Given the description of an element on the screen output the (x, y) to click on. 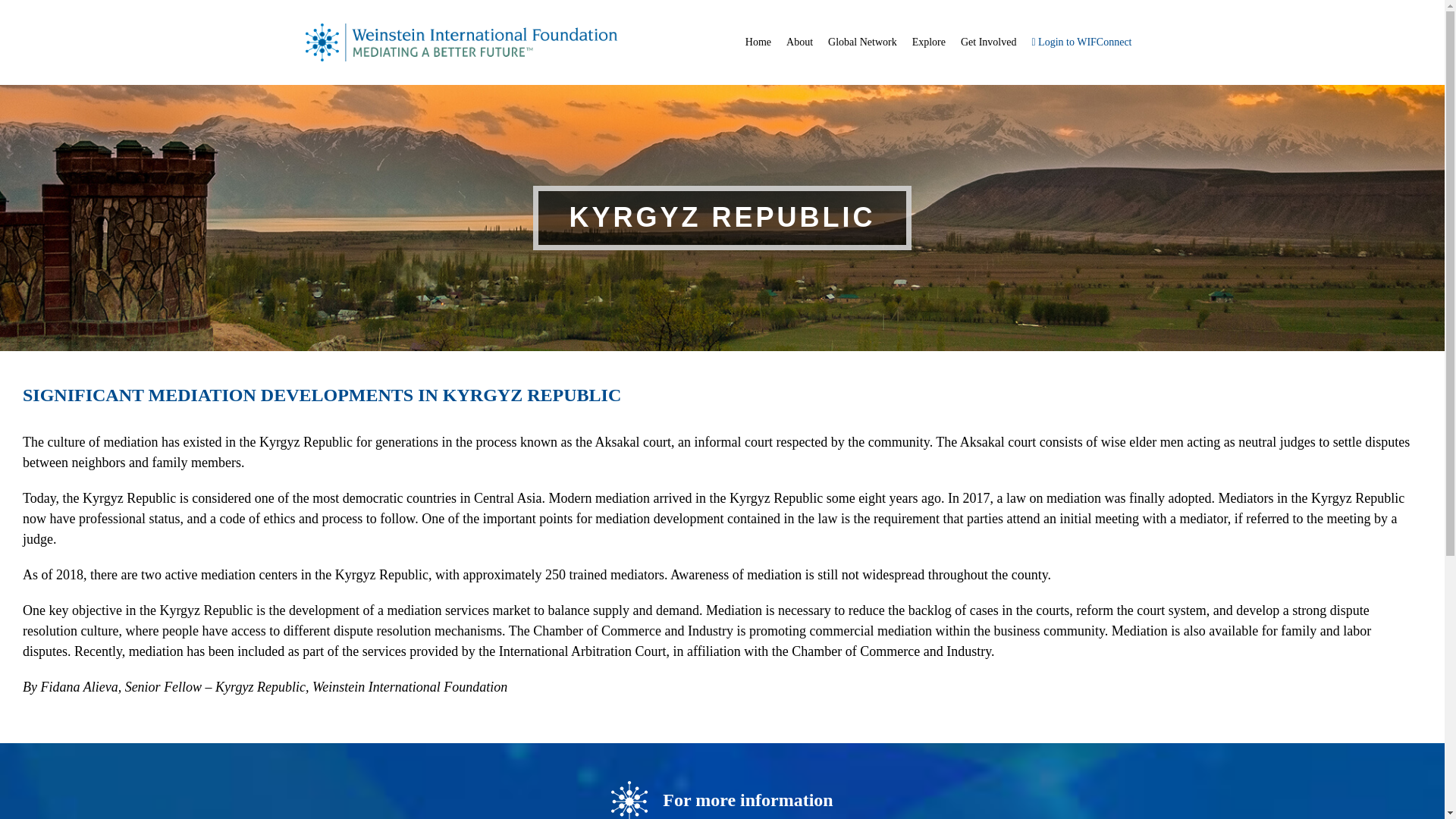
Login to WIFConnect (1080, 42)
Global Network (862, 42)
